Given the description of an element on the screen output the (x, y) to click on. 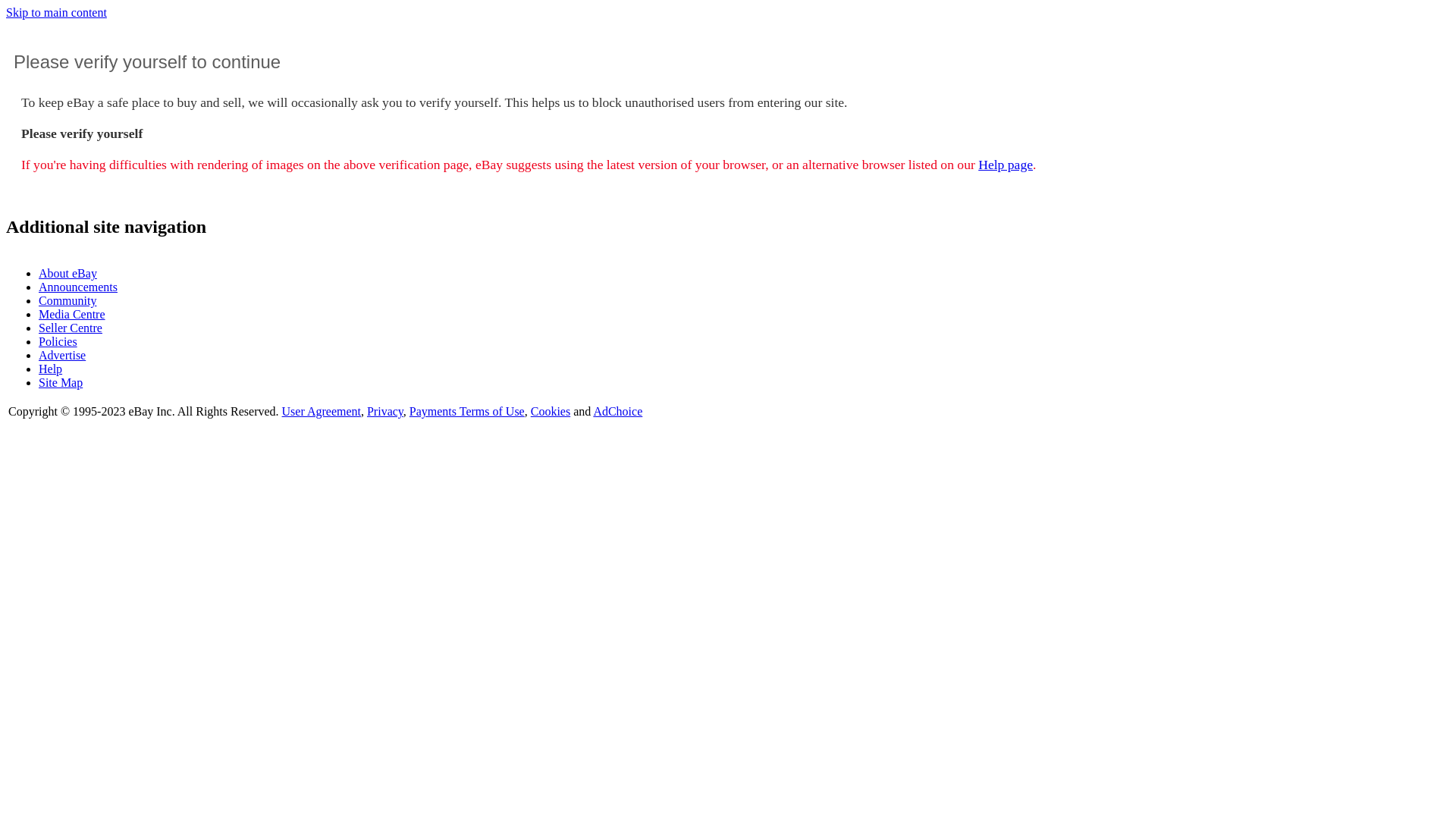
Media Centre Element type: text (71, 313)
Cookies Element type: text (550, 410)
Skip to main content Element type: text (56, 12)
Advertise Element type: text (61, 354)
Privacy Element type: text (385, 410)
Site Map Element type: text (60, 382)
About eBay Element type: text (67, 272)
User Agreement Element type: text (321, 410)
Payments Terms of Use Element type: text (466, 410)
Help page Element type: text (1005, 164)
Community Element type: text (67, 300)
Policies Element type: text (57, 341)
Announcements Element type: text (77, 286)
AdChoice Element type: text (617, 410)
Seller Centre Element type: text (70, 327)
Help Element type: text (50, 368)
